Given the description of an element on the screen output the (x, y) to click on. 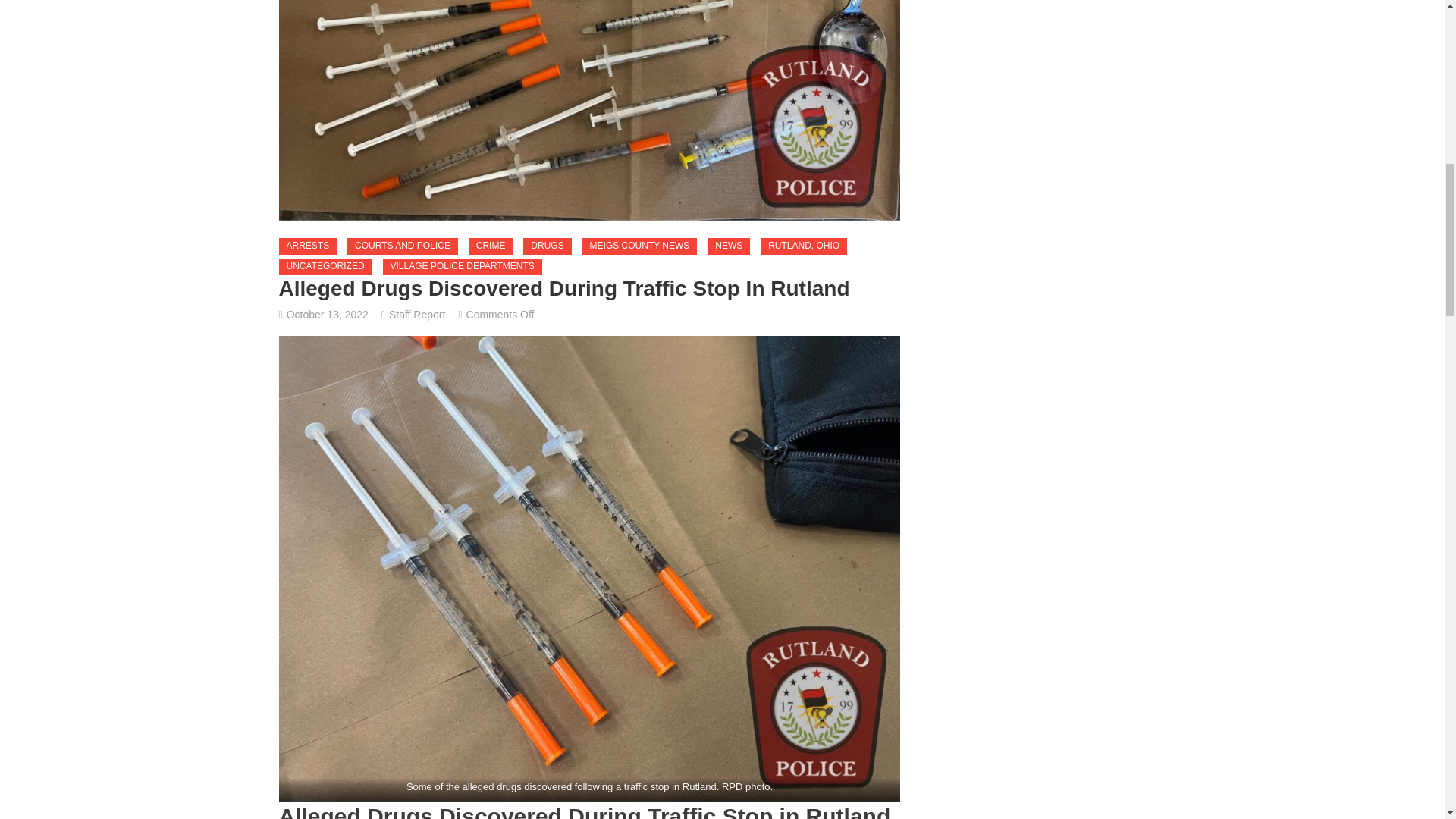
MEIGS COUNTY NEWS (639, 246)
Staff Report (416, 314)
NEWS (728, 246)
RUTLAND, OHIO (803, 246)
COURTS AND POLICE (402, 246)
DRUGS (546, 246)
VILLAGE POLICE DEPARTMENTS (461, 266)
October 13, 2022 (327, 314)
ARRESTS (308, 246)
CRIME (490, 246)
